Given the description of an element on the screen output the (x, y) to click on. 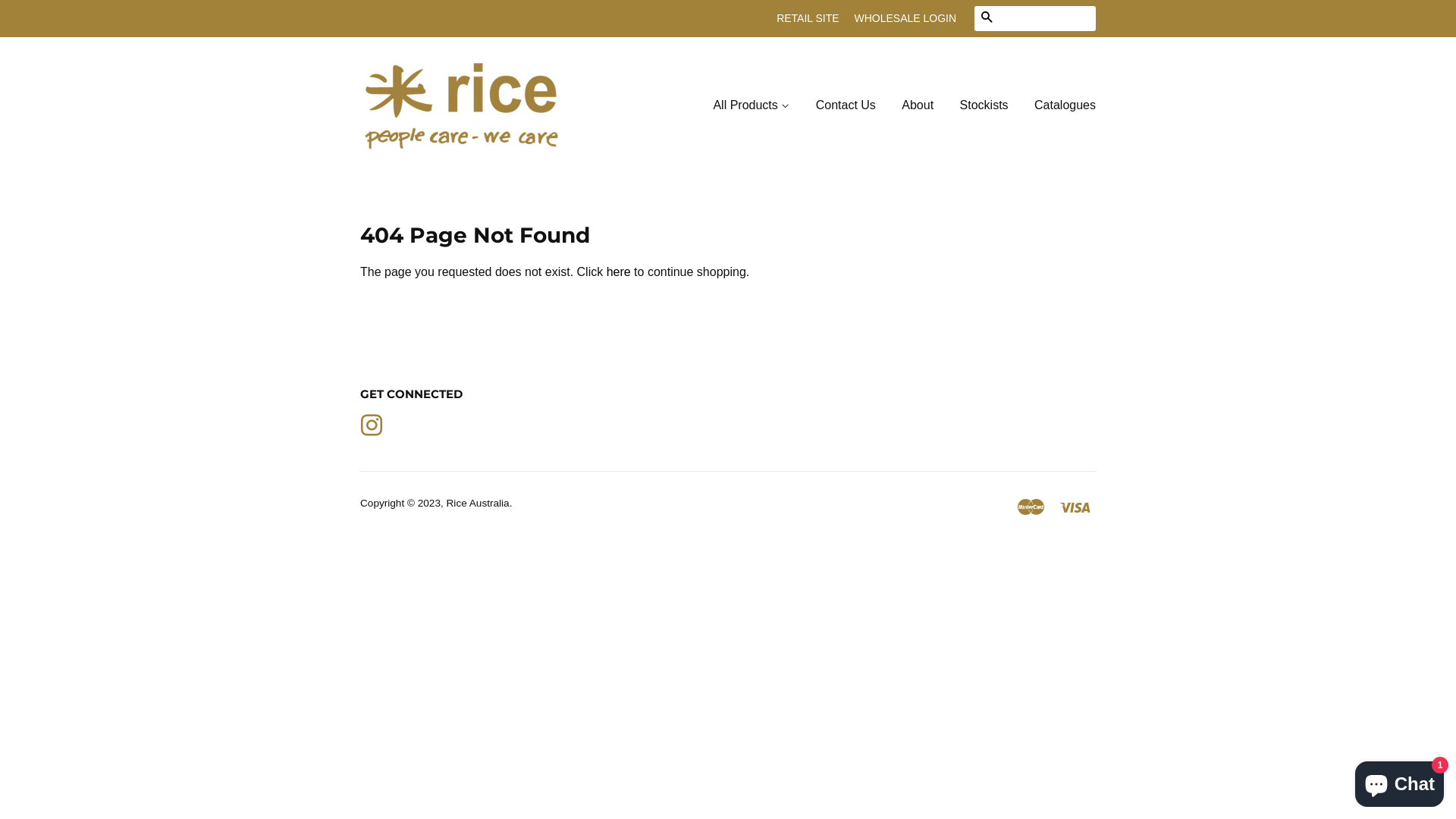
Shopify online store chat Element type: hover (1399, 780)
WHOLESALE LOGIN Element type: text (905, 18)
Rice Australia Element type: text (477, 502)
RETAIL SITE Element type: text (807, 18)
here Element type: text (618, 271)
About Element type: text (917, 105)
Stockists Element type: text (983, 105)
Catalogues Element type: text (1058, 105)
Contact Us Element type: text (845, 105)
Instagram Element type: text (371, 423)
Search Element type: text (986, 18)
All Products Element type: text (756, 105)
